Given the description of an element on the screen output the (x, y) to click on. 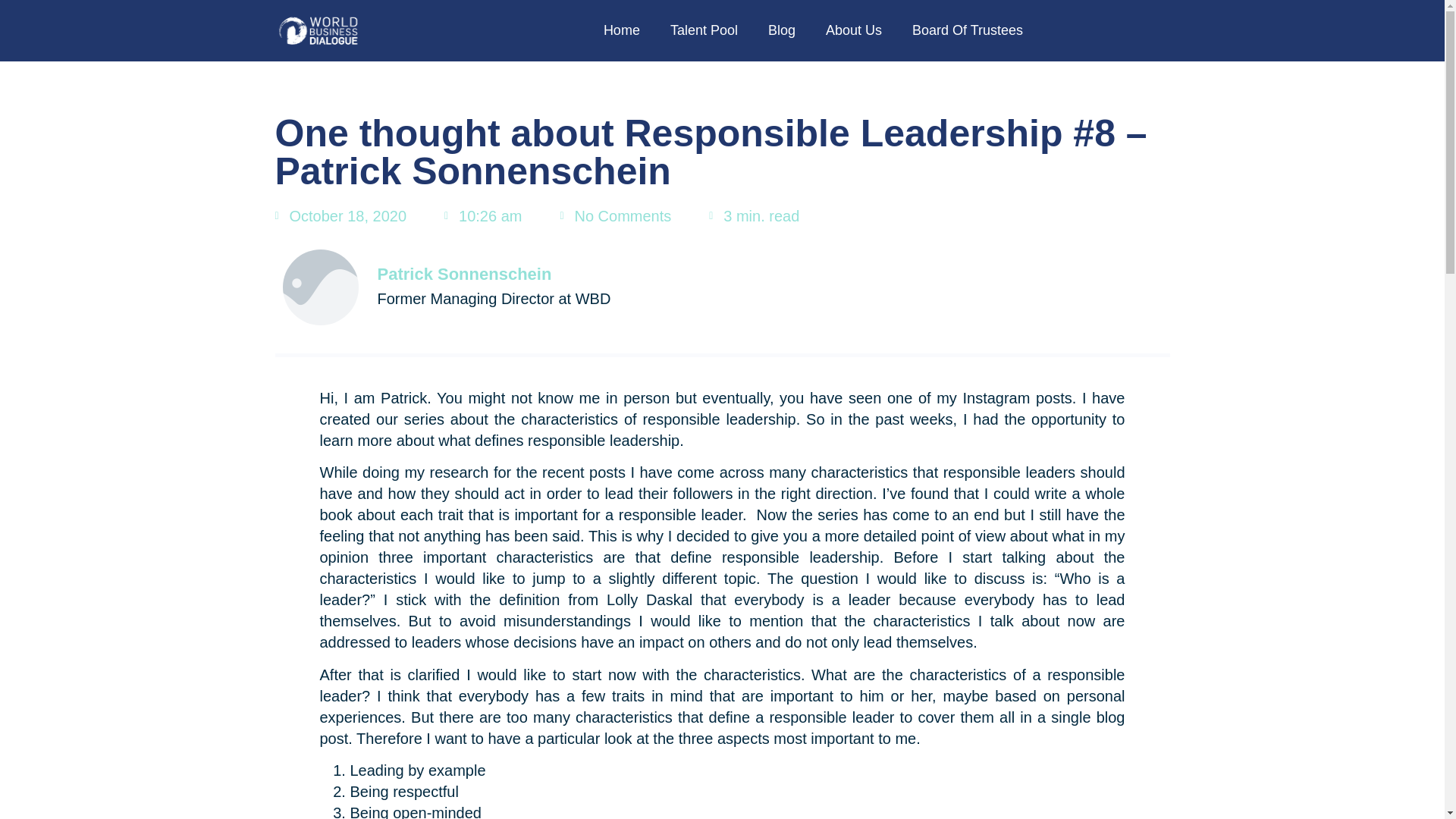
Board Of Trustees (967, 30)
Blog (781, 30)
No Comments (615, 215)
Home (621, 30)
Talent Pool (703, 30)
October 18, 2020 (340, 215)
Take Action Now! (120, 13)
About Us (853, 30)
